Given the description of an element on the screen output the (x, y) to click on. 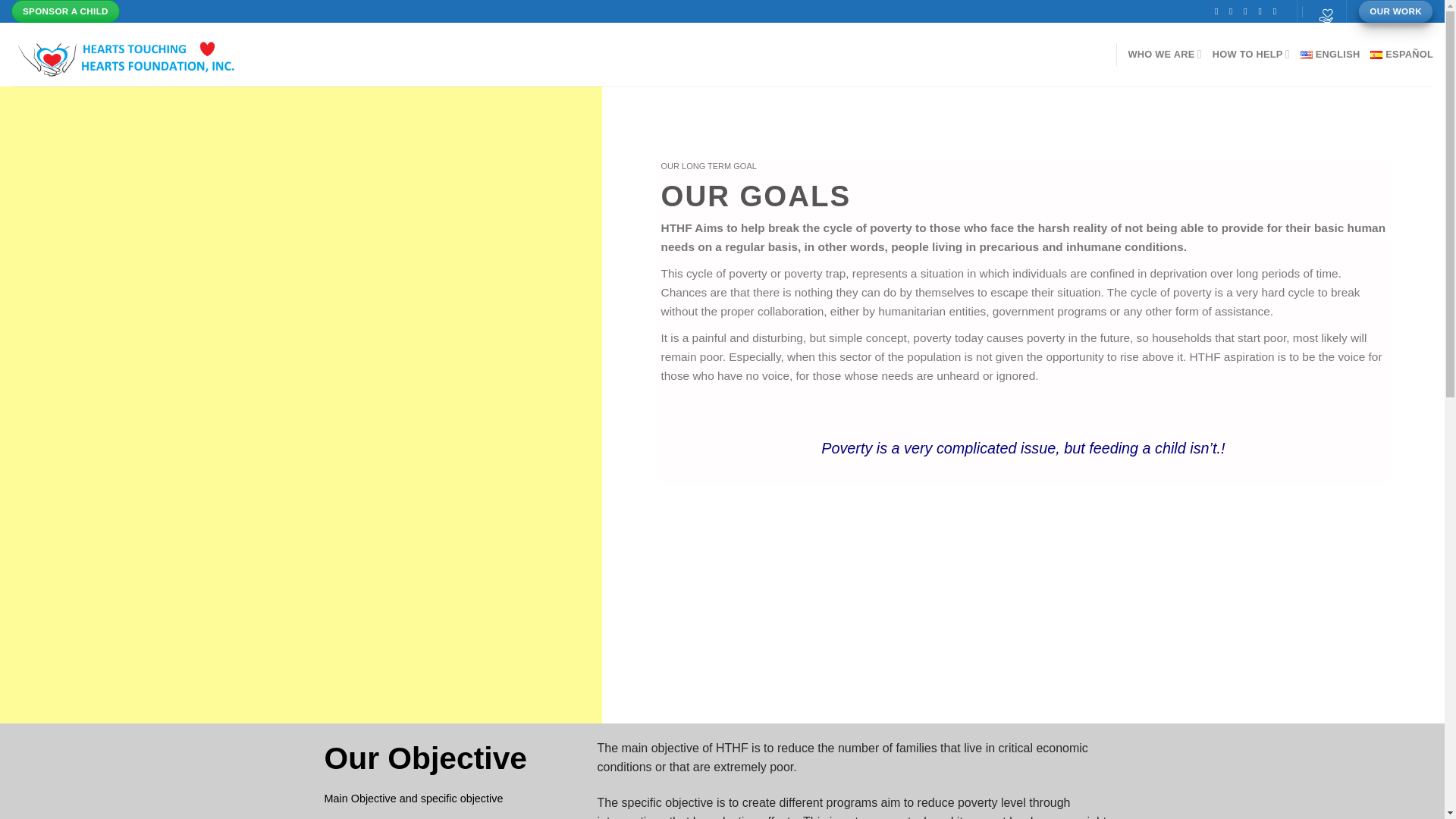
WHO WE ARE (1163, 54)
ENGLISH (1329, 54)
OUR WORK (1395, 11)
SPONSOR A CHILD (65, 11)
HOW TO HELP (1251, 54)
Cart (1321, 11)
